Given the description of an element on the screen output the (x, y) to click on. 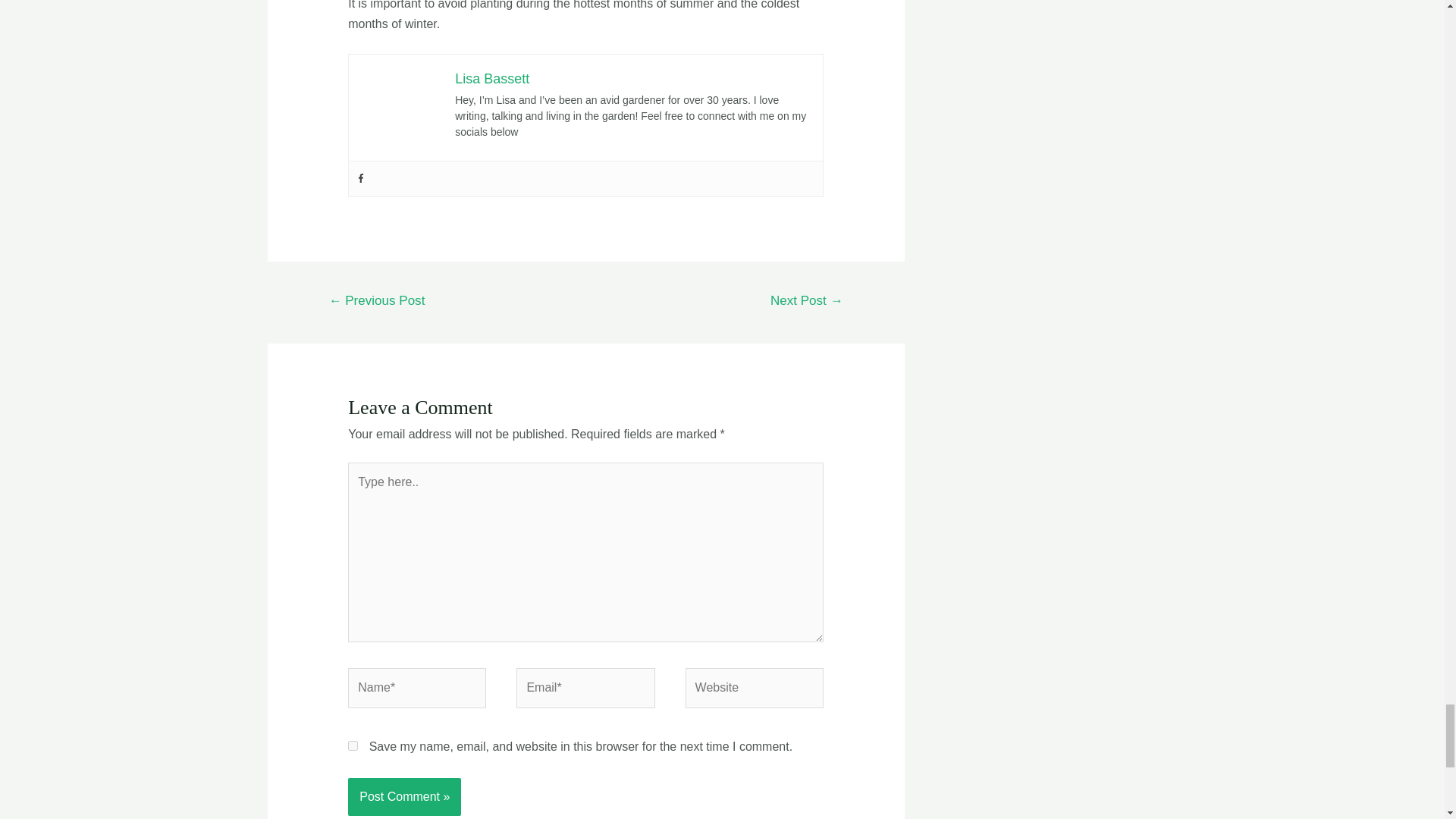
yes (352, 746)
